Given the description of an element on the screen output the (x, y) to click on. 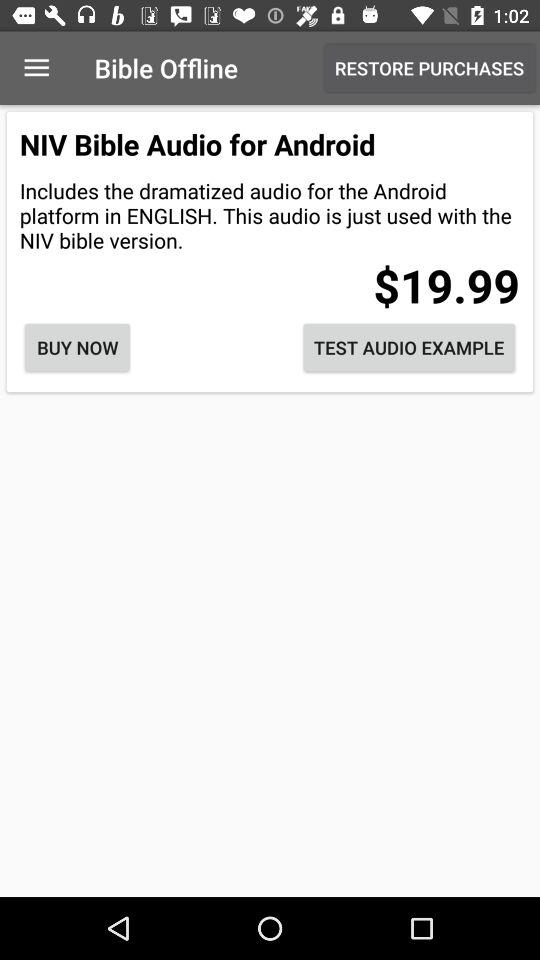
tap the item to the left of test audio example item (77, 347)
